Given the description of an element on the screen output the (x, y) to click on. 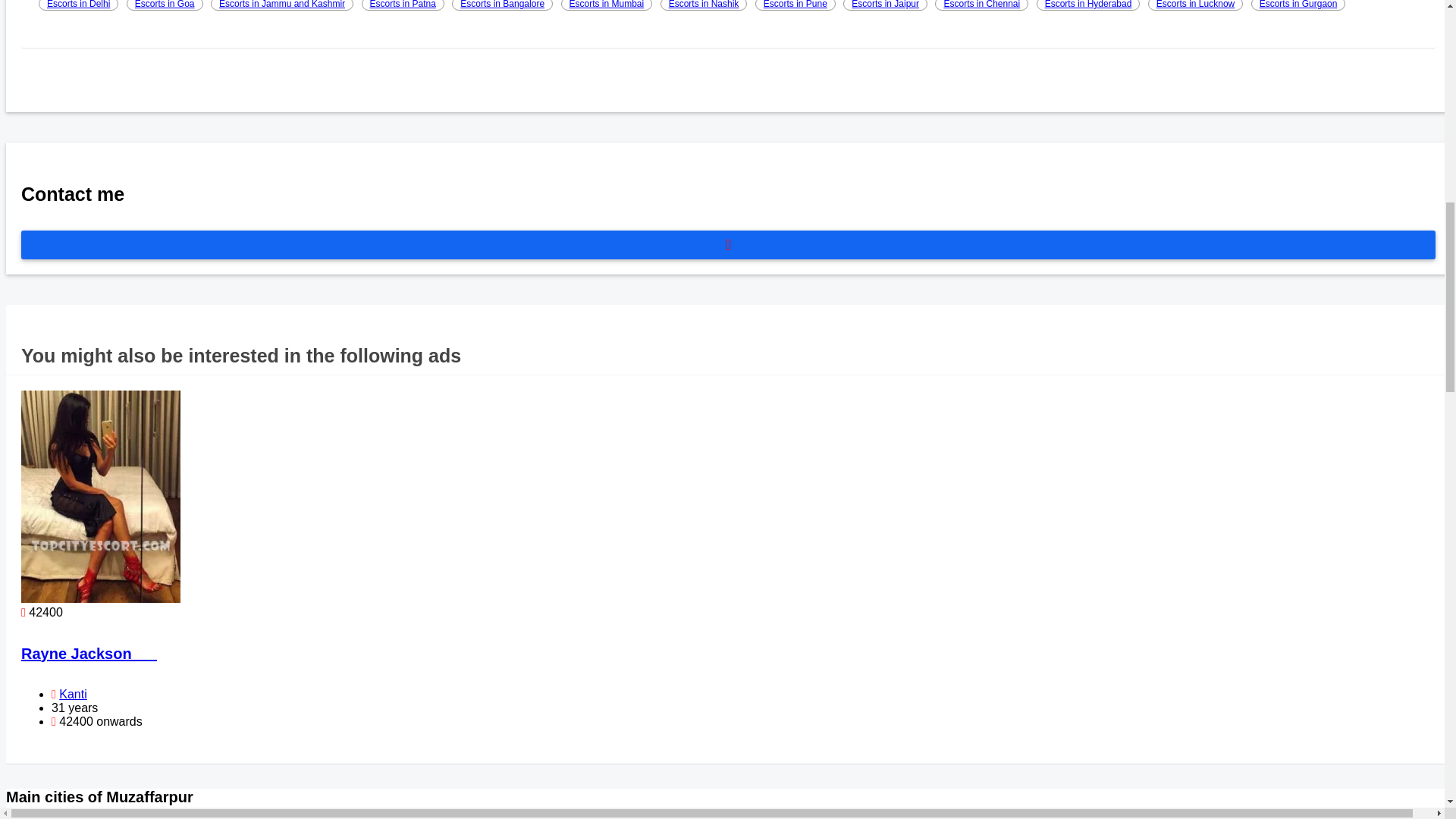
Escorts in Nashik (704, 5)
Rayne Jackson (89, 653)
Escorts in Goa (164, 5)
Escorts in Jammu and Kashmir (282, 5)
Escorts in Pune (795, 5)
Escorts in Gurgaon (1297, 5)
Escorts in Mumbai (606, 5)
Escorts in Lucknow (1195, 5)
Escorts in Bangalore (502, 5)
Escorts in Patna (402, 5)
Kanti (72, 694)
Escorts in Chennai (980, 5)
Escorts in Hyderabad (1088, 5)
Rayne Jackson       (89, 653)
Escorts in Delhi (78, 5)
